Given the description of an element on the screen output the (x, y) to click on. 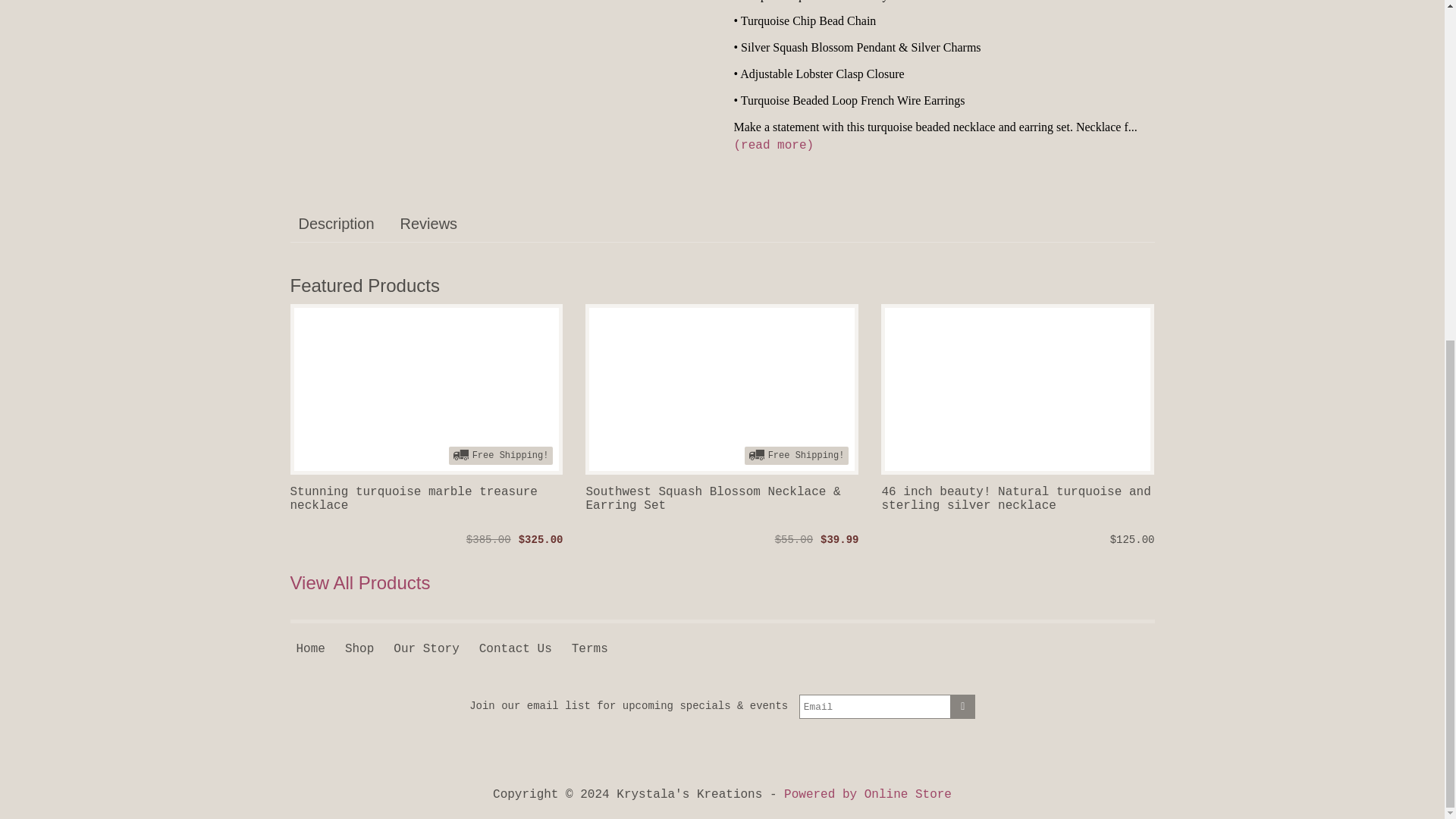
Reviews (428, 223)
Description (335, 223)
View All Products (359, 582)
Stunning turquoise marble treasure necklace (425, 507)
Free Shipping! (425, 389)
Free Shipping! (722, 389)
